Given the description of an element on the screen output the (x, y) to click on. 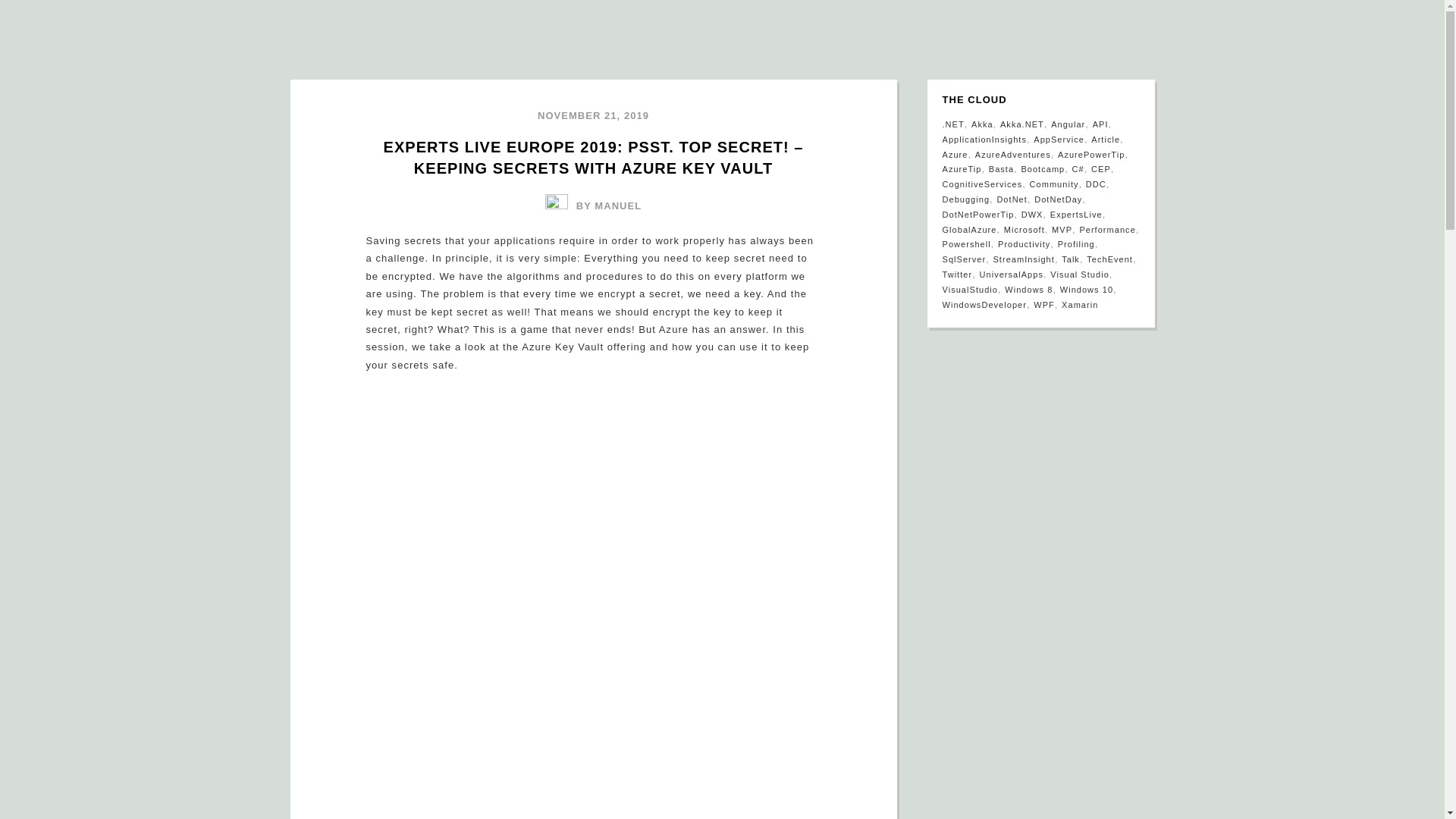
BY MANUEL (593, 205)
API (1100, 123)
Angular (1067, 123)
Akka.NET (1021, 123)
.NET (952, 123)
Akka (981, 123)
